Given the description of an element on the screen output the (x, y) to click on. 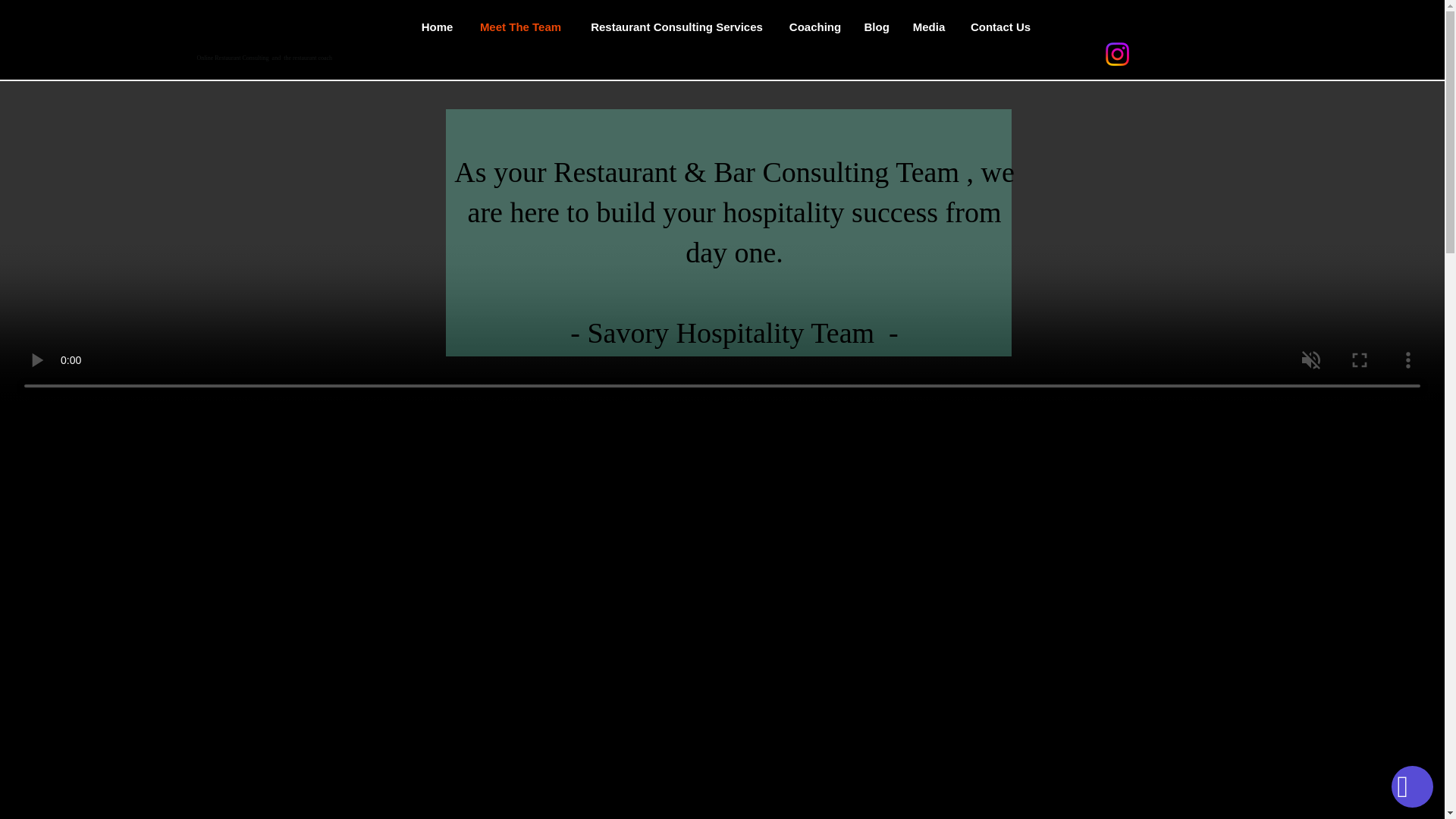
Media (928, 26)
Coaching (815, 26)
Home (437, 26)
Meet The Team (520, 26)
Restaurant Consulting Services (676, 26)
Contact Us (1000, 26)
Blog (875, 26)
